Given the description of an element on the screen output the (x, y) to click on. 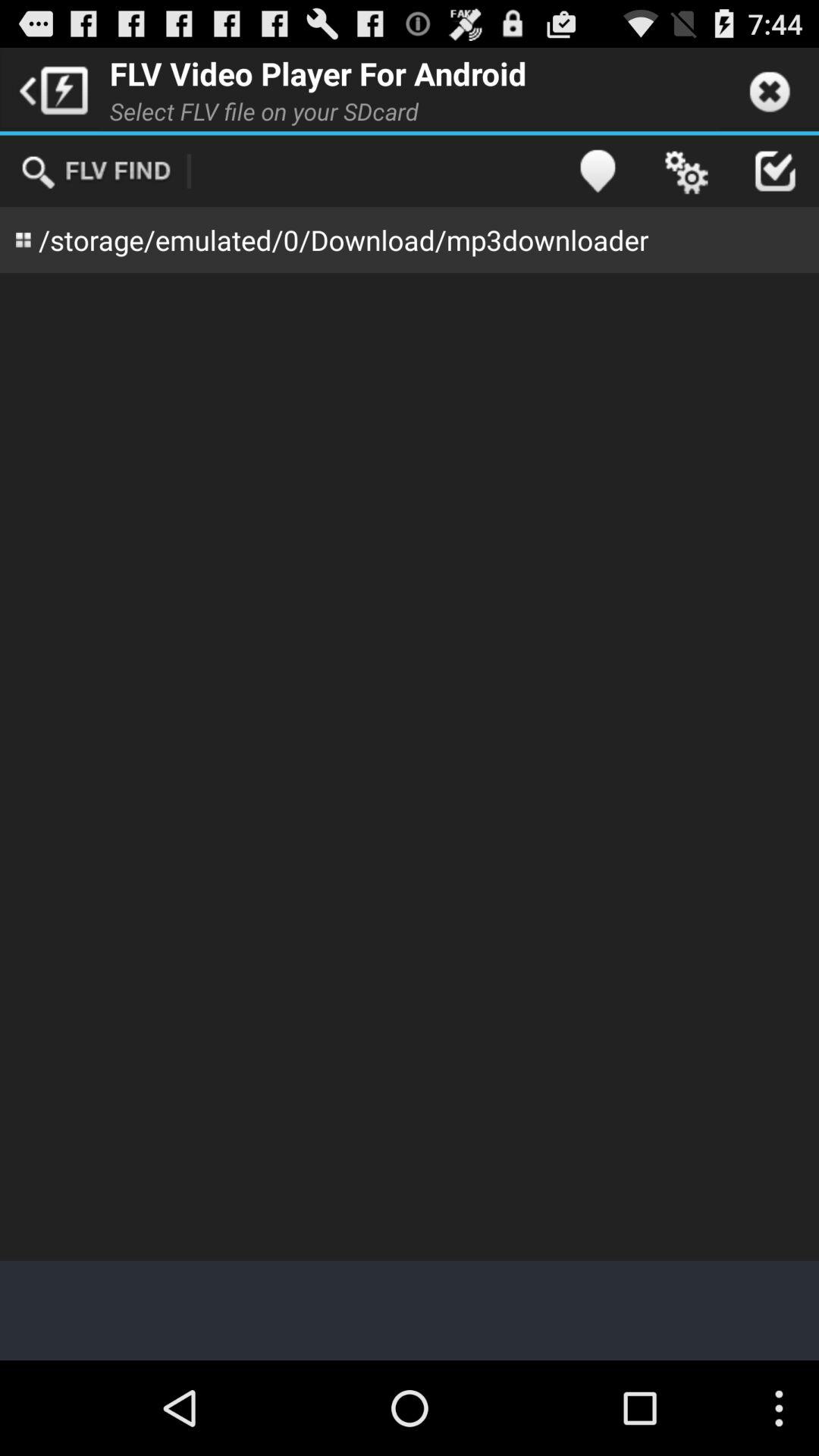
click app above storage emulated 0 icon (685, 171)
